Given the description of an element on the screen output the (x, y) to click on. 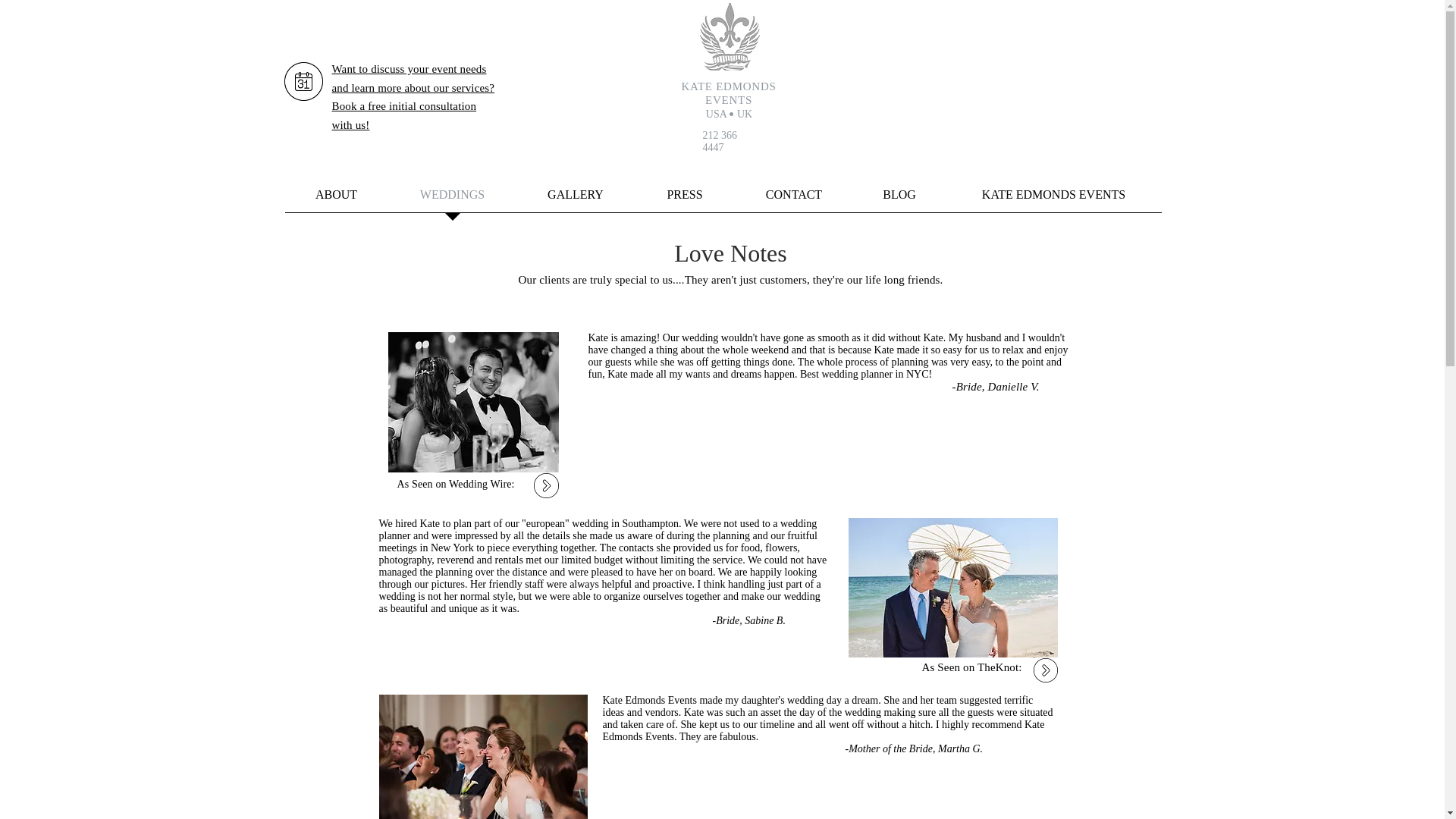
KATE EDMONDS EVENTS (728, 94)
WEDDINGS (452, 198)
USA    UK (729, 114)
GALLERY (575, 198)
PRESS (684, 198)
KATE EDMONDS EVENTS (1053, 198)
CONTACT (794, 198)
As Seen on TheKnot: (971, 667)
As Seen on Wedding Wire: (456, 484)
BLOG (897, 198)
212 366 4447 (718, 141)
ABOUT (336, 198)
